Given the description of an element on the screen output the (x, y) to click on. 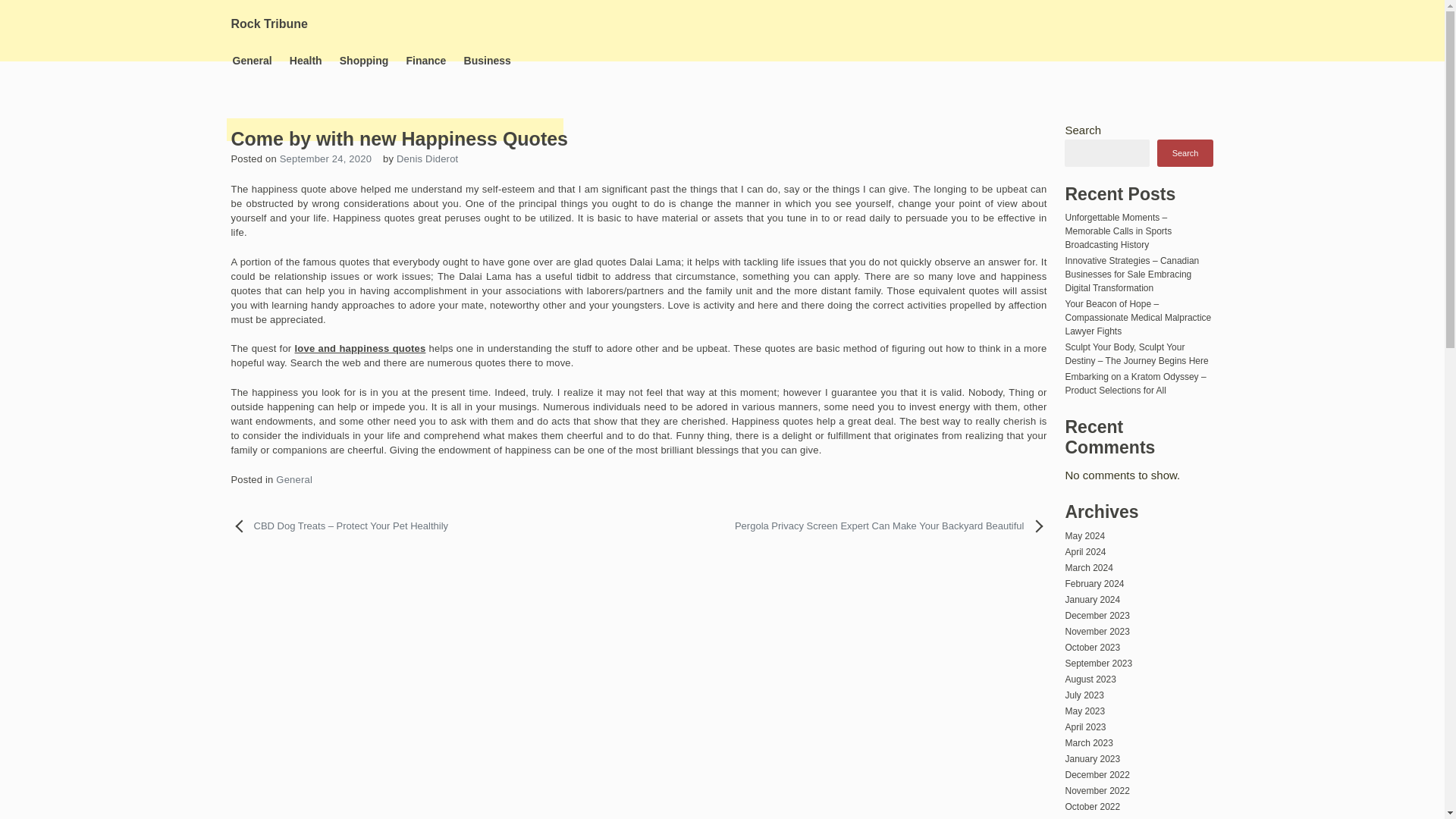
September 2023 (1098, 663)
May 2024 (1084, 535)
September 24, 2020 (325, 158)
September 2022 (1098, 818)
Shopping (363, 60)
April 2023 (1084, 726)
May 2023 (1084, 710)
November 2023 (1096, 631)
January 2023 (1091, 758)
